Given the description of an element on the screen output the (x, y) to click on. 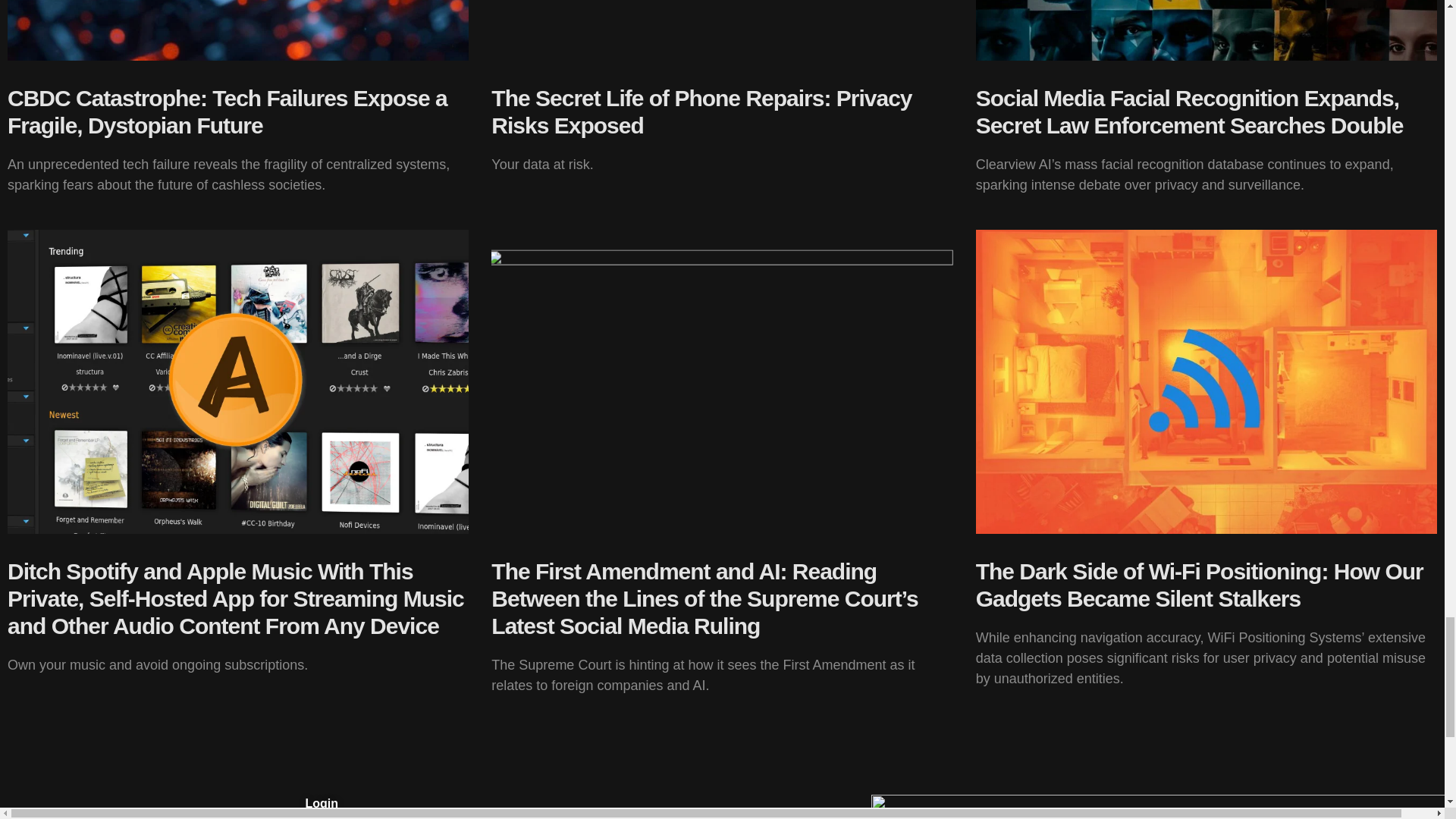
The Secret Life of Phone Repairs: Privacy Risks Exposed (701, 111)
